Given the description of an element on the screen output the (x, y) to click on. 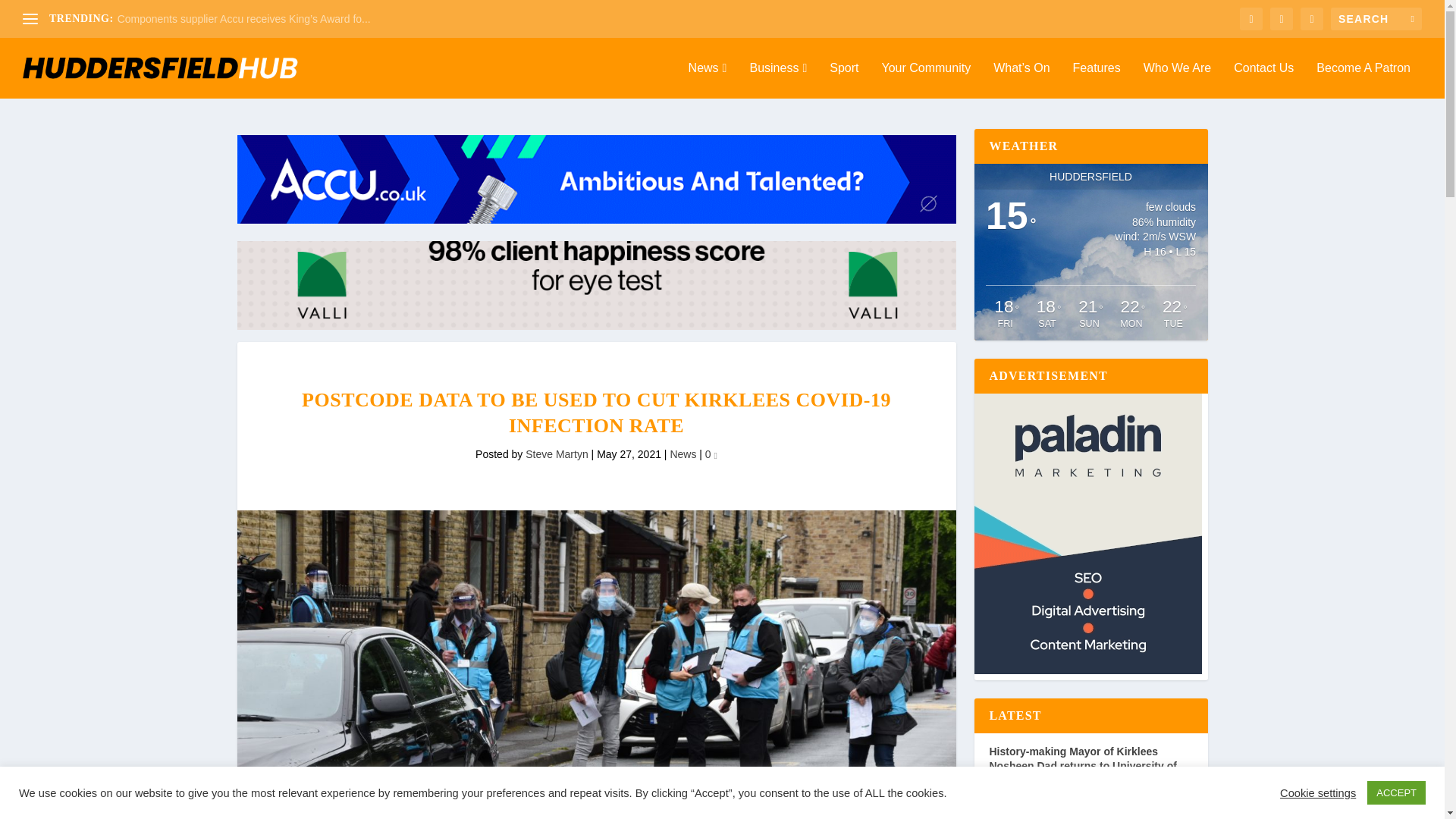
Search for: (1376, 18)
Your Community (925, 80)
News (707, 80)
Posts by Steve Martyn (556, 453)
Contact Us (1263, 80)
Become A Patron (1363, 80)
Business (777, 80)
Features (1097, 80)
Who We Are (1176, 80)
